Given the description of an element on the screen output the (x, y) to click on. 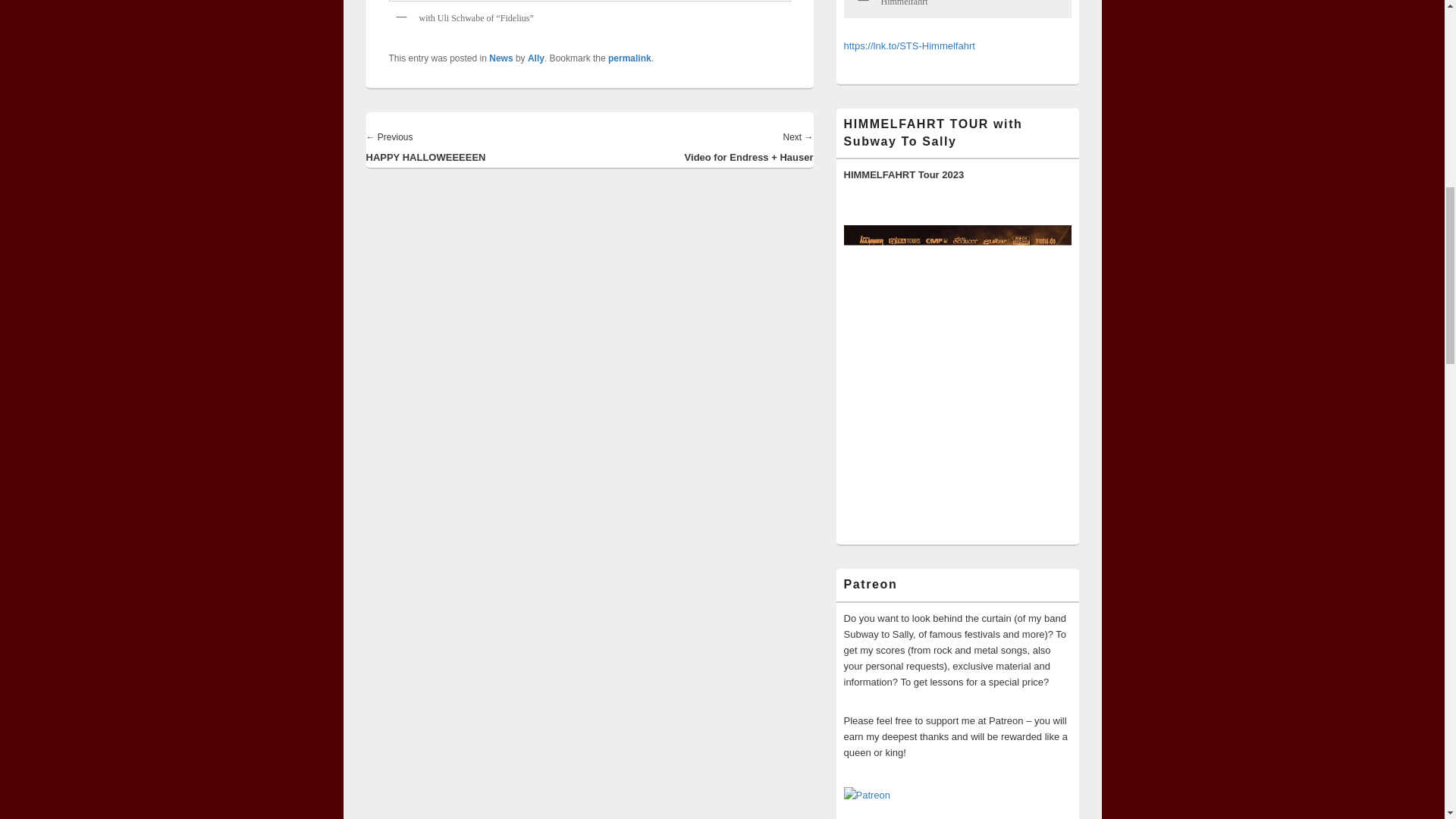
Ally (535, 58)
permalink (629, 58)
News (500, 58)
PATREON (866, 795)
Permalink to Workshop concert at Fidelius violins (629, 58)
